Given the description of an element on the screen output the (x, y) to click on. 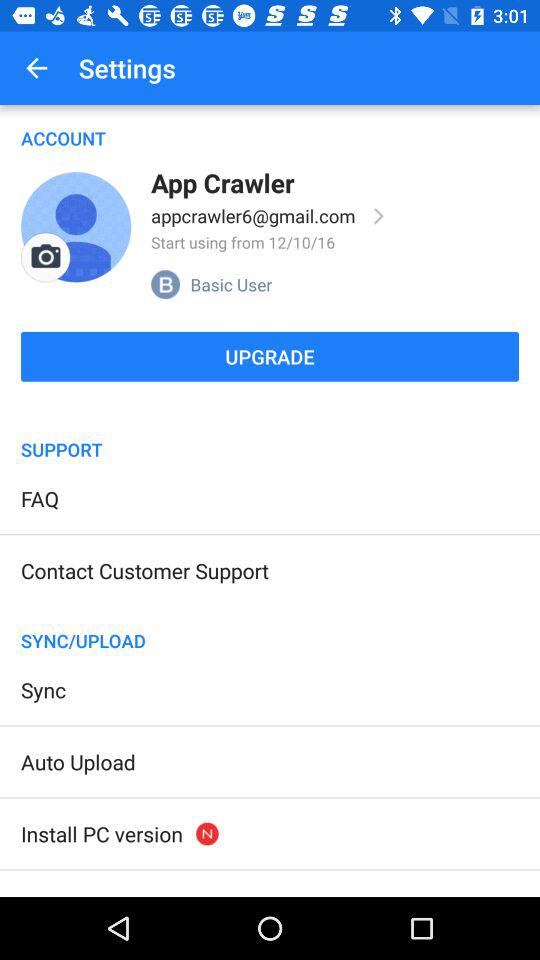
click the icon below app crawler (253, 215)
